Given the description of an element on the screen output the (x, y) to click on. 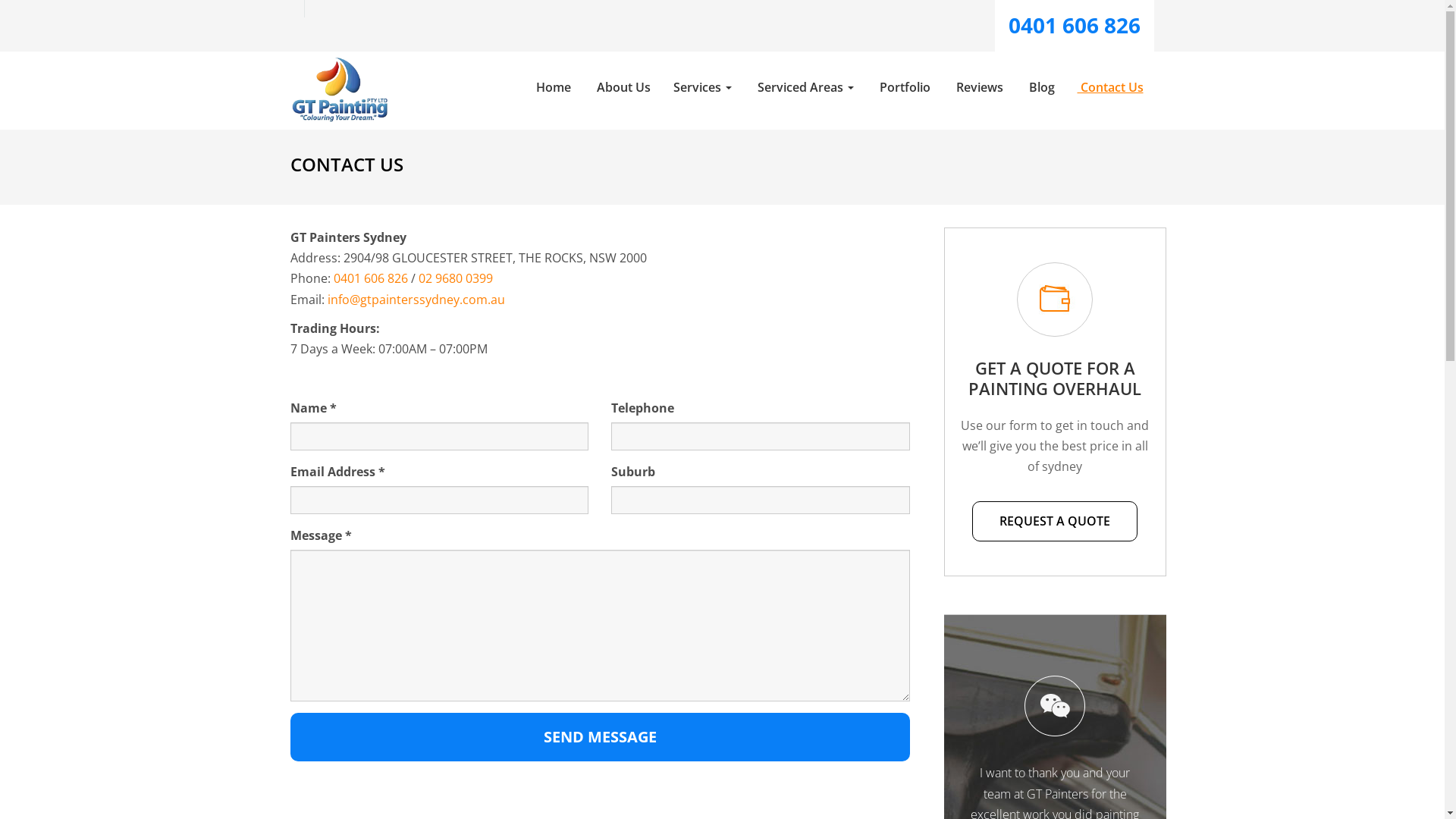
quote Element type: hover (1054, 299)
 Reviews Element type: text (977, 87)
testimonial Element type: hover (1054, 705)
REQUEST A QUOTE Element type: text (1054, 521)
GT Painters Sydney Residential & Commercial Painter Element type: hover (338, 88)
info@gtpainterssydney.com.au Element type: text (416, 299)
 Home Element type: text (551, 87)
Send Message Element type: text (599, 736)
 Blog Element type: text (1040, 87)
Services Element type: text (701, 87)
0401 606 826 Element type: text (370, 277)
02 9680 0399 Element type: text (455, 277)
 Contact Us Element type: text (1110, 87)
 Serviced Areas Element type: text (804, 87)
0401 606 826 Element type: text (1074, 24)
 Portfolio Element type: text (902, 87)
 About Us Element type: text (622, 87)
